Given the description of an element on the screen output the (x, y) to click on. 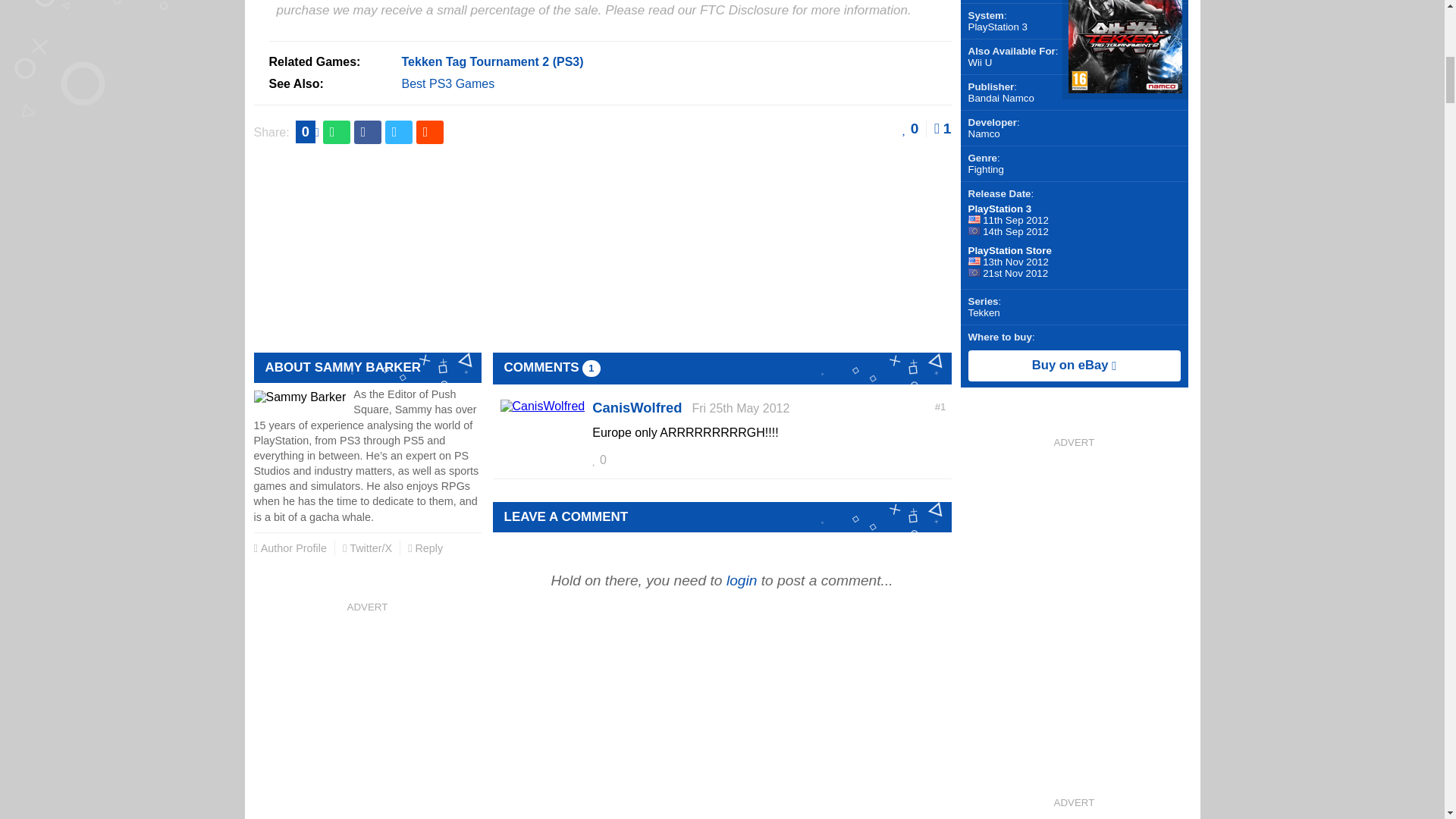
Share this on WhatsApp (336, 131)
Share this on Twitter (398, 131)
Share this on Reddit (430, 131)
Share this on Facebook (367, 131)
